Given the description of an element on the screen output the (x, y) to click on. 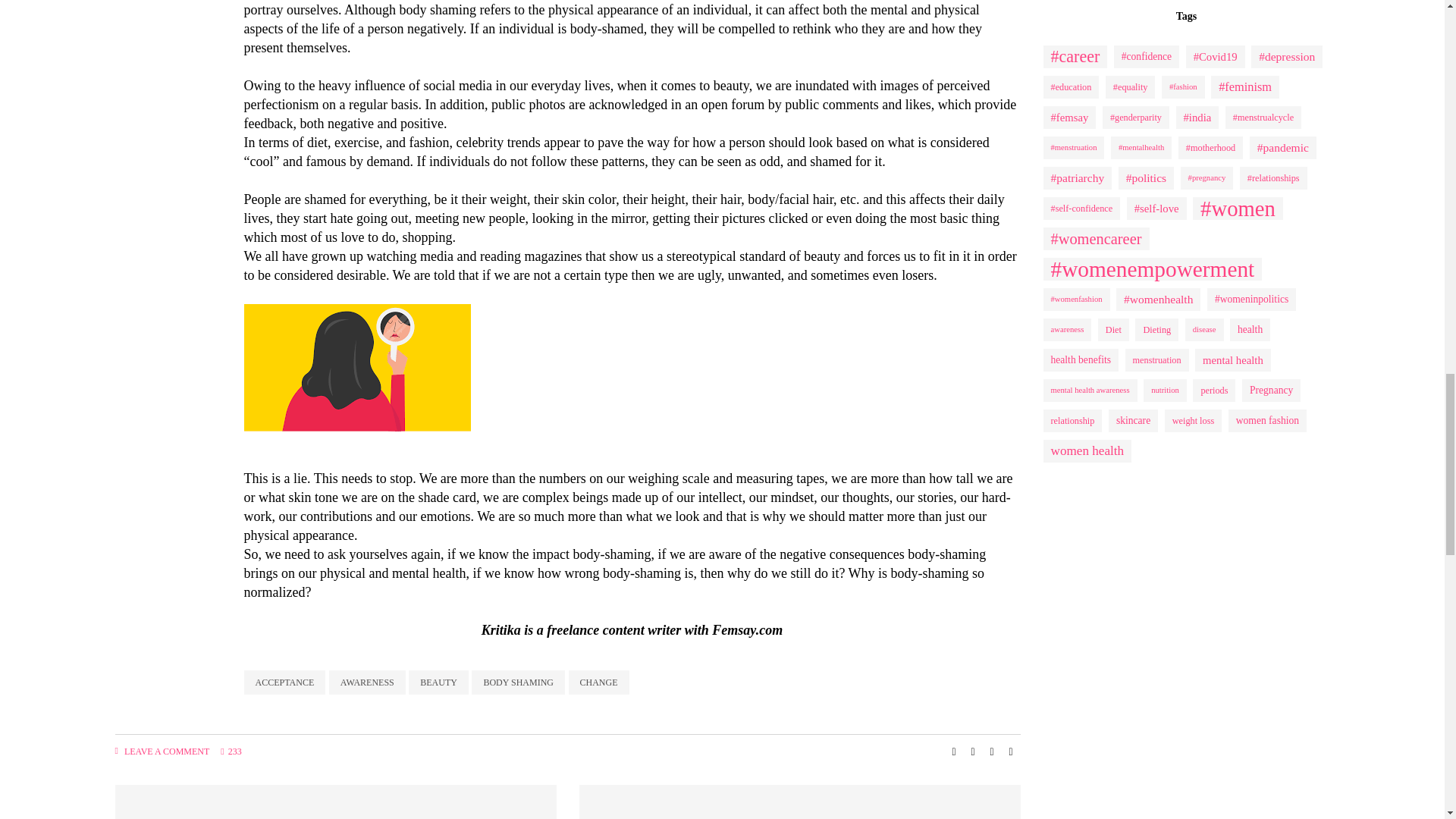
Tweet this (971, 752)
Share with Google Plus (991, 752)
Pin this (1010, 752)
AWARENESS (367, 682)
Share this (953, 752)
ACCEPTANCE (285, 682)
